Given the description of an element on the screen output the (x, y) to click on. 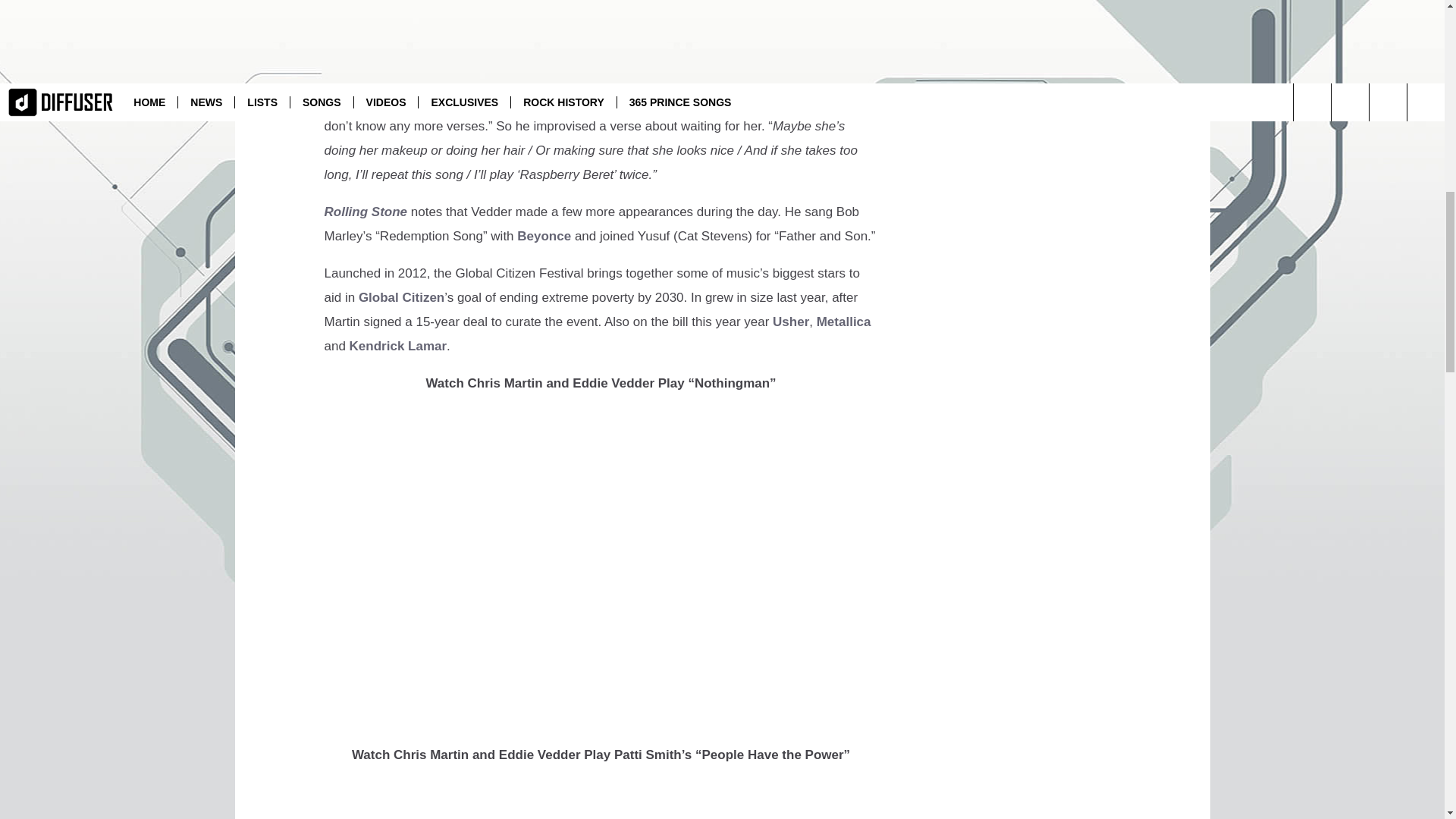
Global Citizen (401, 297)
Rolling Stone (365, 211)
Kendrick Lamar (397, 345)
Beyonce (543, 236)
Usher (791, 321)
Prince (546, 77)
Metallica (843, 321)
Rihanna (675, 101)
